Given the description of an element on the screen output the (x, y) to click on. 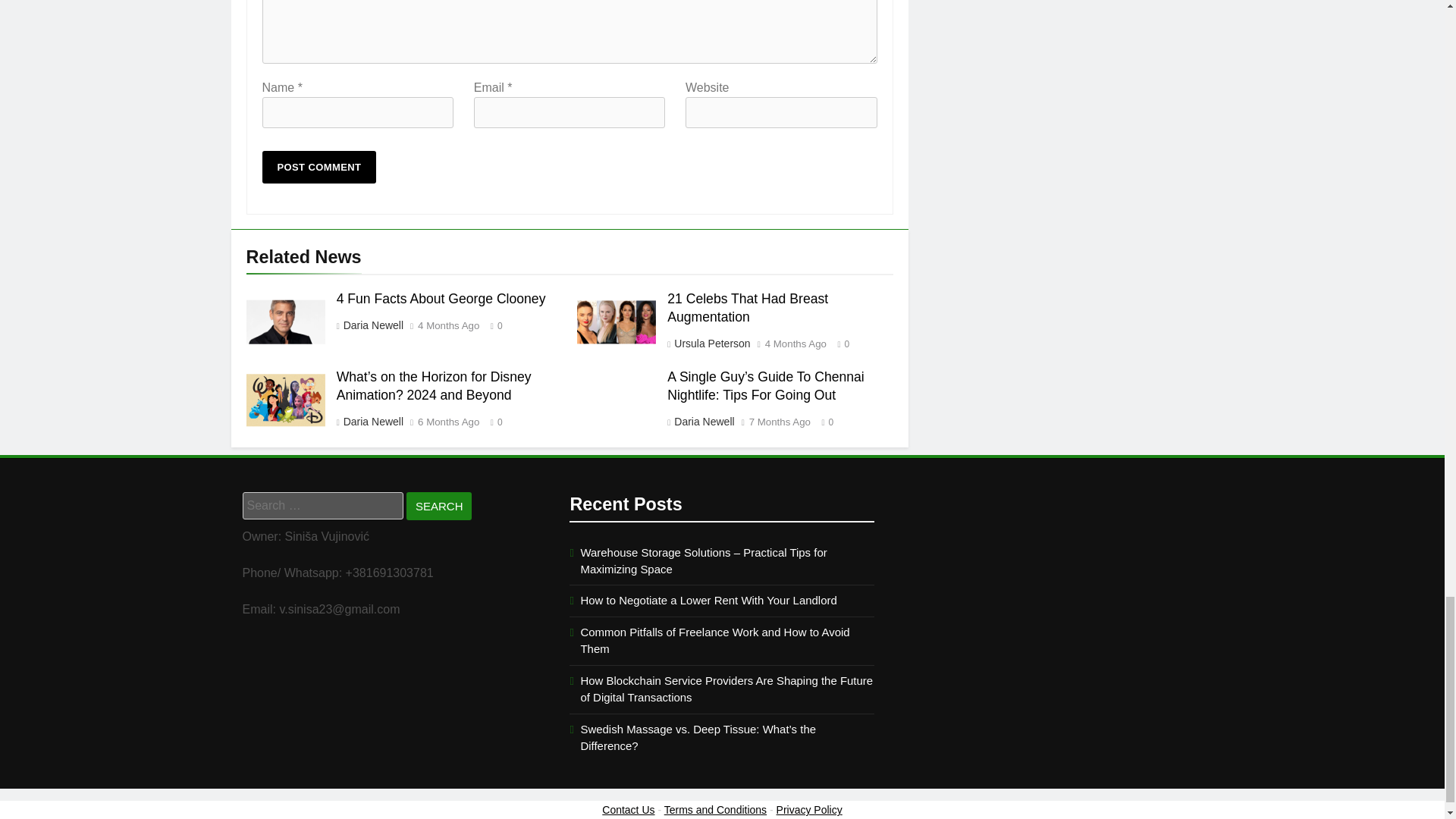
Search (438, 506)
Search (438, 506)
Post Comment (319, 166)
Post Comment (319, 166)
